Given the description of an element on the screen output the (x, y) to click on. 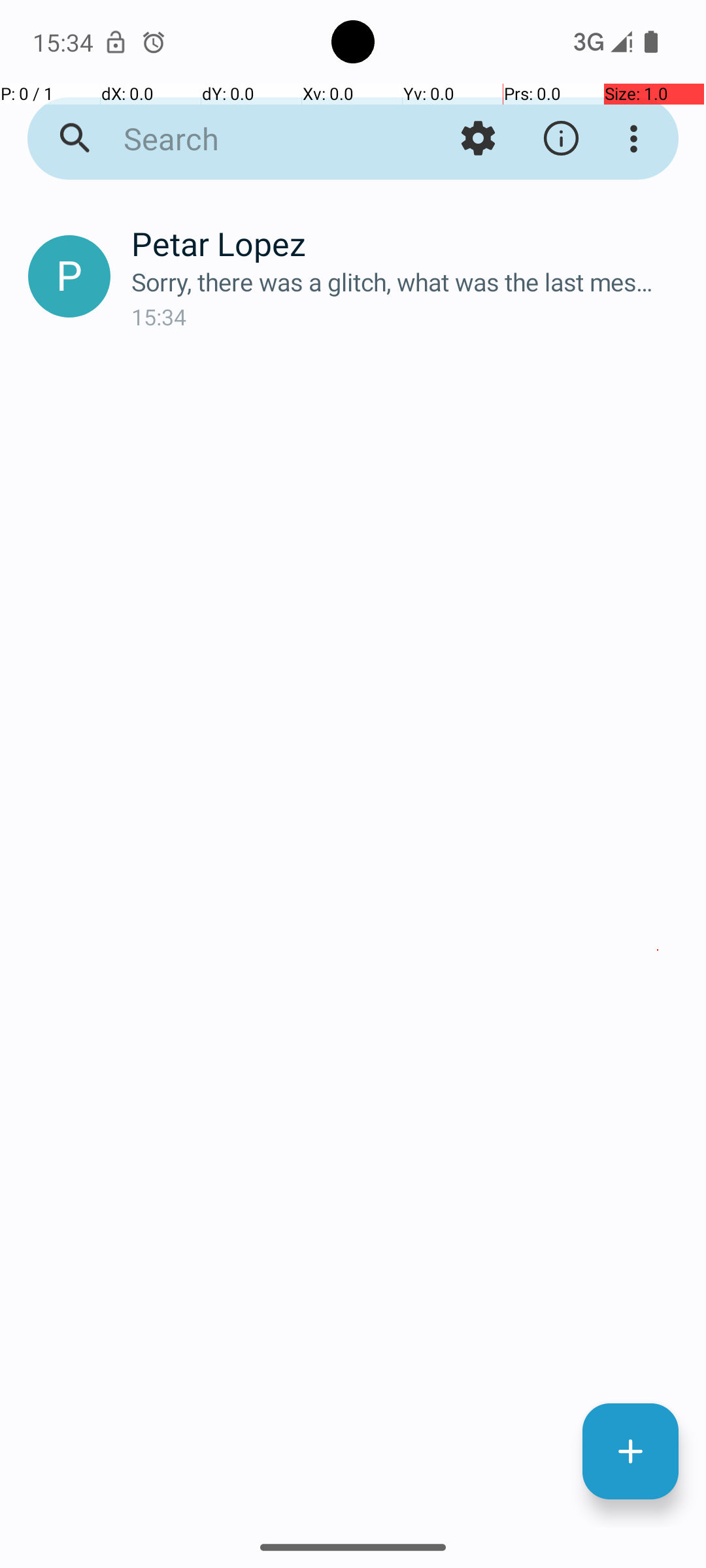
Petar Lopez Element type: android.widget.TextView (408, 242)
